Given the description of an element on the screen output the (x, y) to click on. 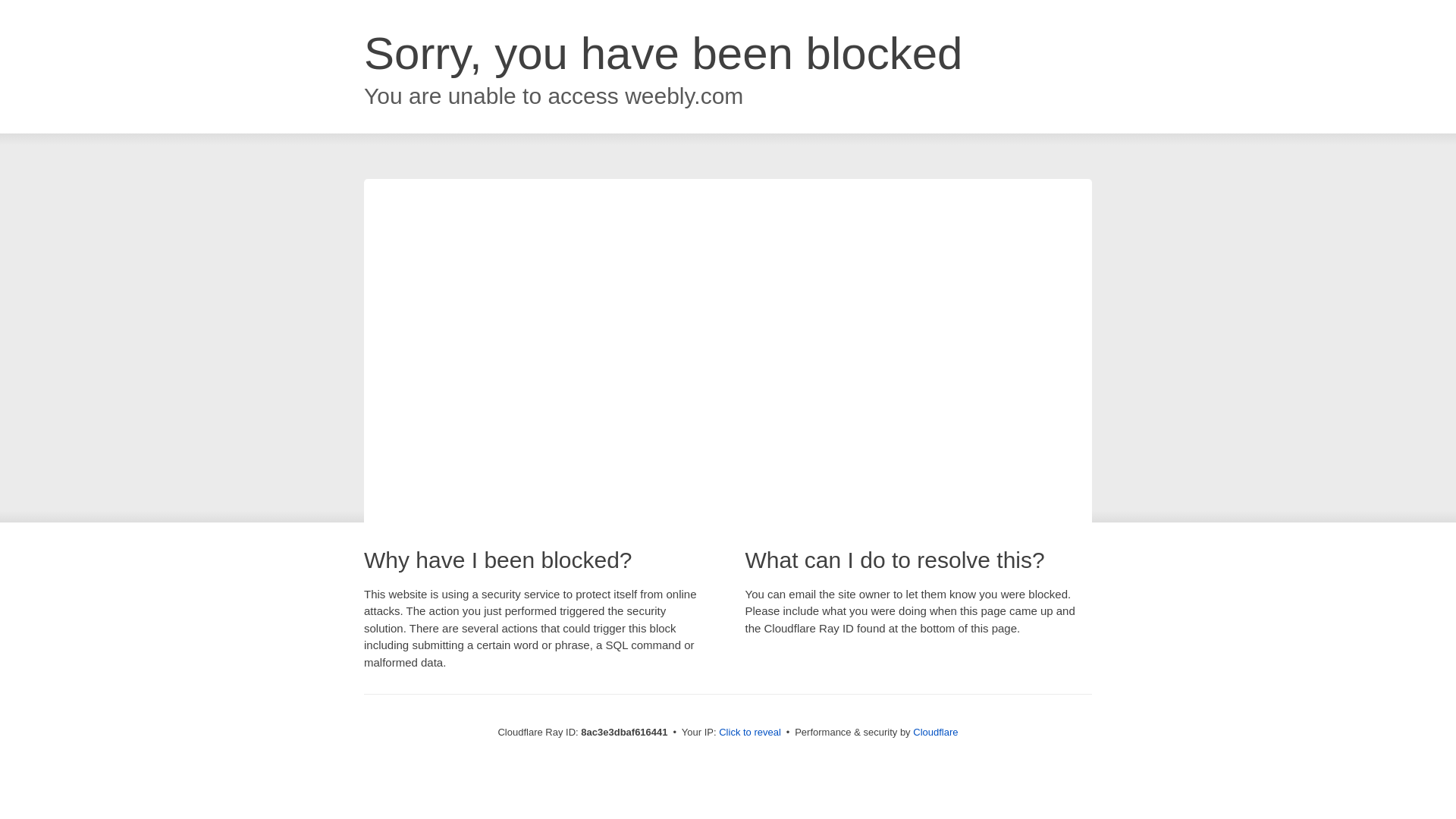
Cloudflare (935, 731)
Click to reveal (749, 732)
